Given the description of an element on the screen output the (x, y) to click on. 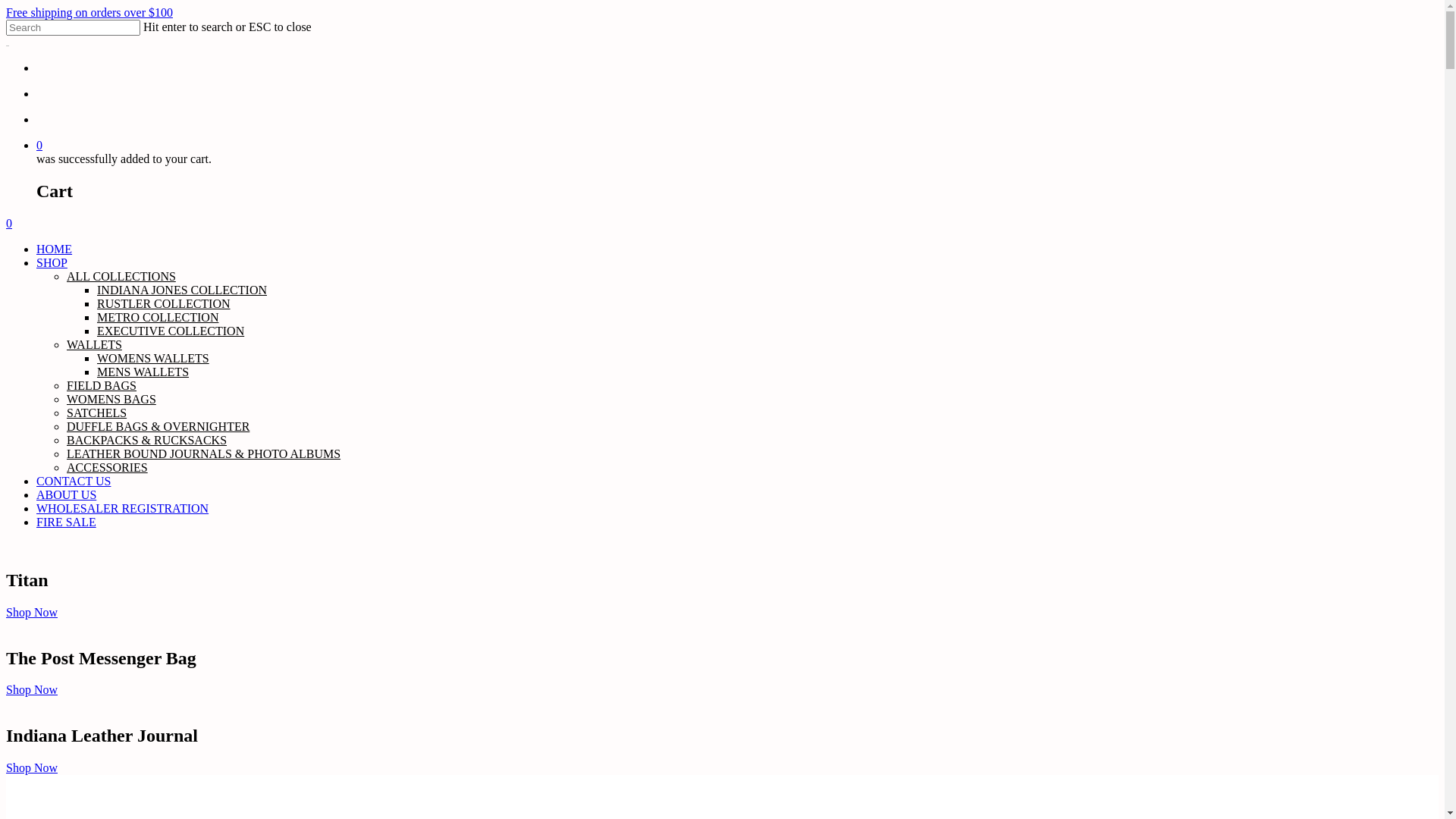
RUSTLER COLLECTION Element type: text (163, 303)
FIELD BAGS Element type: text (101, 385)
SHOP Element type: text (51, 262)
SATCHELS Element type: text (96, 412)
LEATHER BOUND JOURNALS & PHOTO ALBUMS Element type: text (203, 453)
METRO COLLECTION Element type: text (157, 316)
BACKPACKS & RUCKSACKS Element type: text (146, 439)
WALLETS Element type: text (94, 344)
ABOUT US Element type: text (66, 494)
EXECUTIVE COLLECTION Element type: text (170, 330)
ACCESSORIES Element type: text (106, 467)
WHOLESALER REGISTRATION Element type: text (122, 508)
0 Element type: text (722, 223)
Shop Now Element type: text (31, 767)
CONTACT US Element type: text (73, 480)
INDIANA JONES COLLECTION Element type: text (181, 289)
HOME Element type: text (54, 248)
Free shipping on orders over $100 Element type: text (89, 12)
DUFFLE BAGS & OVERNIGHTER Element type: text (157, 426)
WOMENS BAGS Element type: text (111, 398)
ALL COLLECTIONS Element type: text (120, 275)
Shop Now Element type: text (31, 611)
Shop Now Element type: text (31, 689)
FIRE SALE Element type: text (66, 521)
MENS WALLETS Element type: text (142, 371)
0 Element type: text (737, 145)
WOMENS WALLETS Element type: text (153, 357)
